Given the description of an element on the screen output the (x, y) to click on. 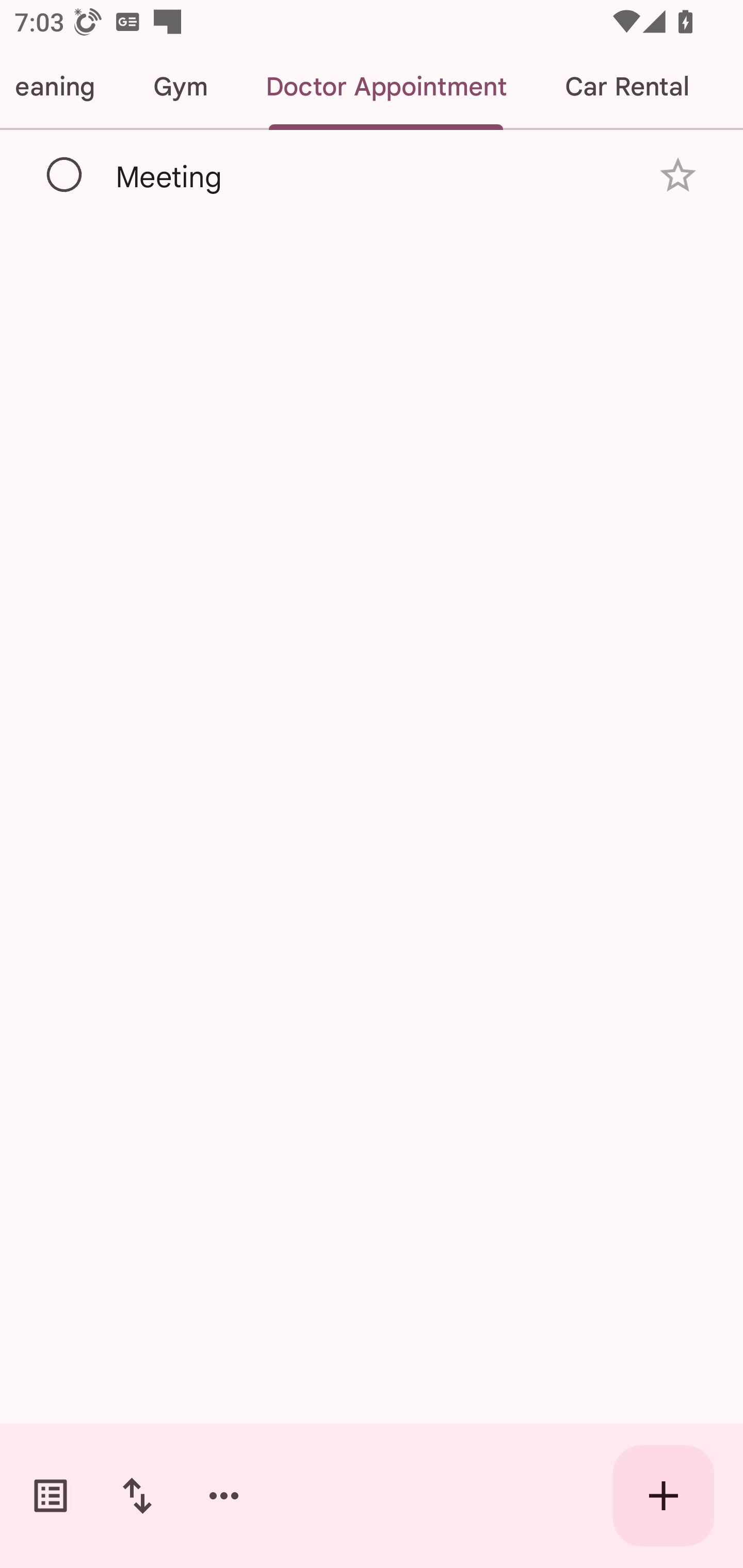
Cleaning (62, 86)
Gym (180, 86)
Car Rental (626, 86)
Meeting Meeting Add star Mark as complete (371, 173)
Add star (677, 174)
Mark as complete (64, 175)
Switch task lists (50, 1495)
Create new task (663, 1495)
Change sort order (136, 1495)
More options (223, 1495)
